Given the description of an element on the screen output the (x, y) to click on. 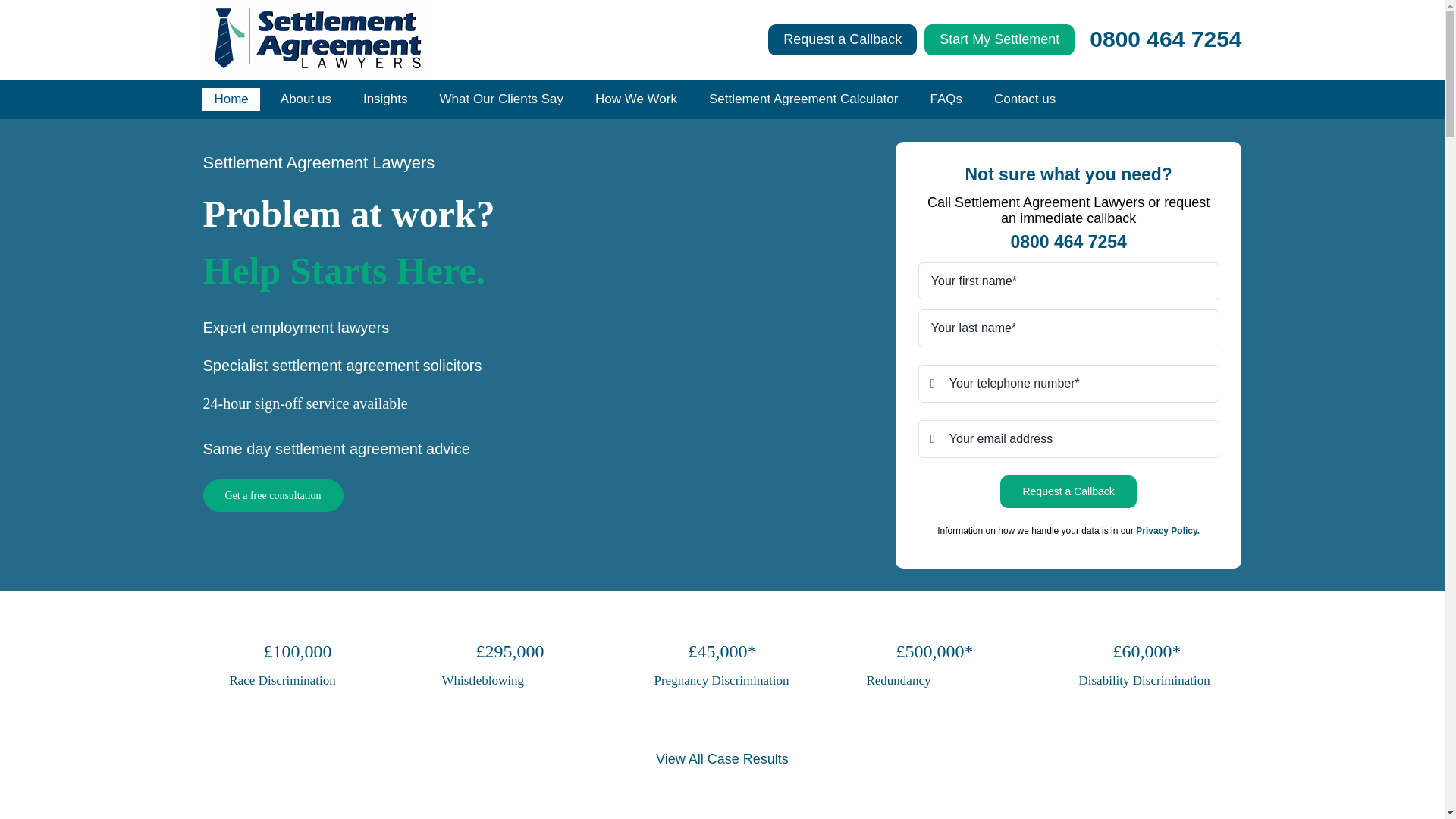
Privacy Policy. (1167, 530)
Contact us (1024, 99)
FAQs (946, 99)
Settlement Agreement Calculator (802, 99)
0800 464 7254 (1068, 241)
Home (230, 99)
0800 464 7254 (1165, 38)
Get a free consultation (273, 495)
View All Case Results (722, 758)
Request a Callback (842, 39)
Start My Settlement (999, 39)
What Our Clients Say (500, 99)
Get a free consultation (273, 495)
Request a Callback (1067, 491)
